Given the description of an element on the screen output the (x, y) to click on. 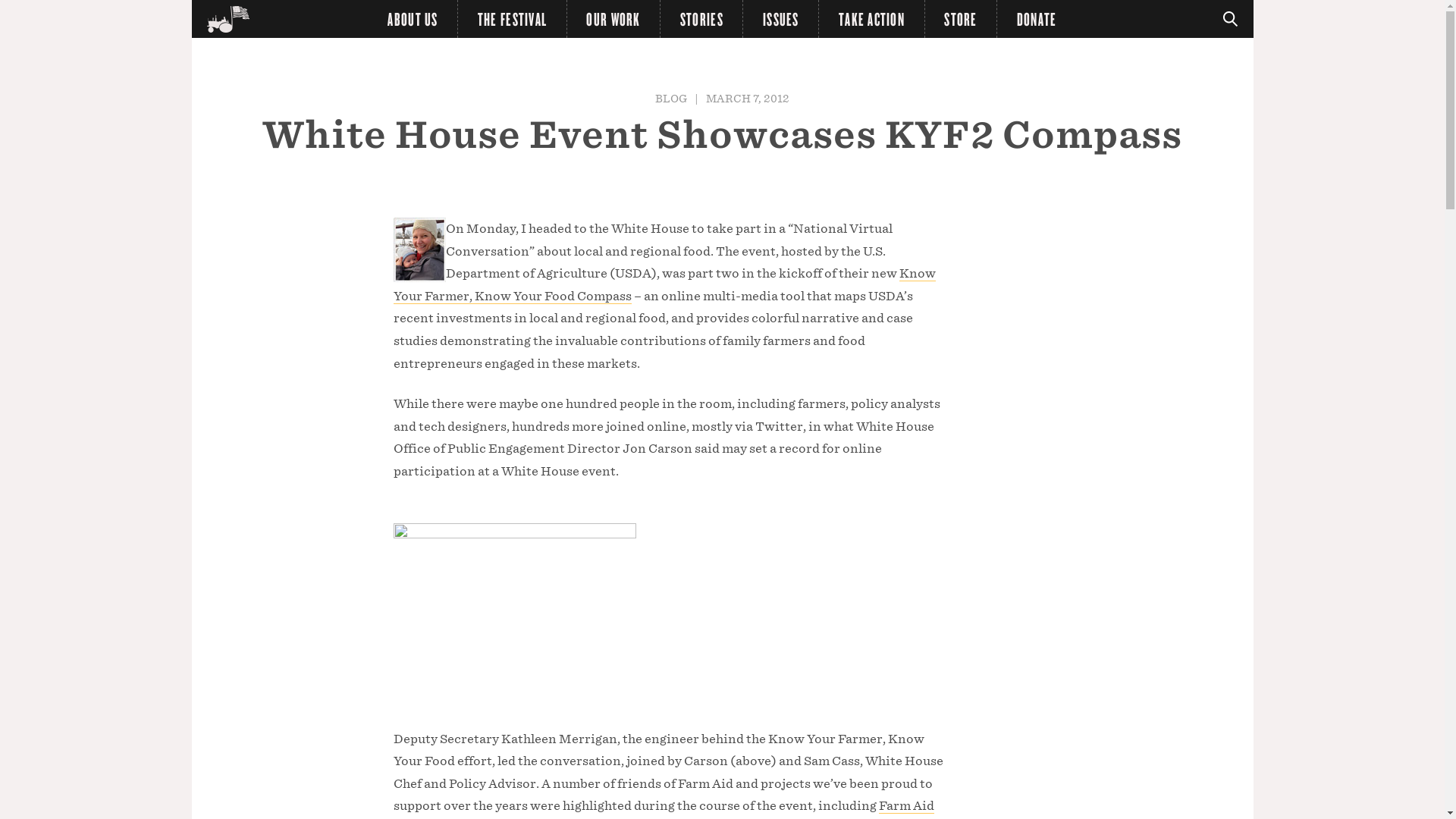
OUR WORK (614, 18)
Farm Aid Farmer Hero David Marvel (663, 808)
BLOG (671, 97)
THE FESTIVAL (512, 18)
STORE (960, 18)
STORIES (701, 18)
TAKE ACTION (871, 18)
Know Your Farmer, Know Your Food Compass (663, 284)
Submit (21, 7)
ISSUES (780, 18)
ABOUT US (413, 18)
DONATE (1036, 18)
